Given the description of an element on the screen output the (x, y) to click on. 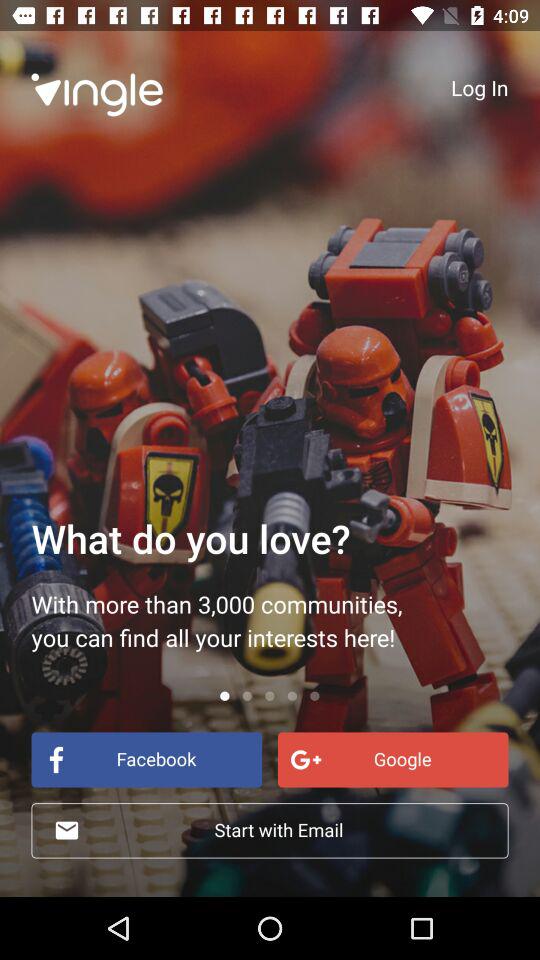
jump until the facebook item (146, 759)
